Given the description of an element on the screen output the (x, y) to click on. 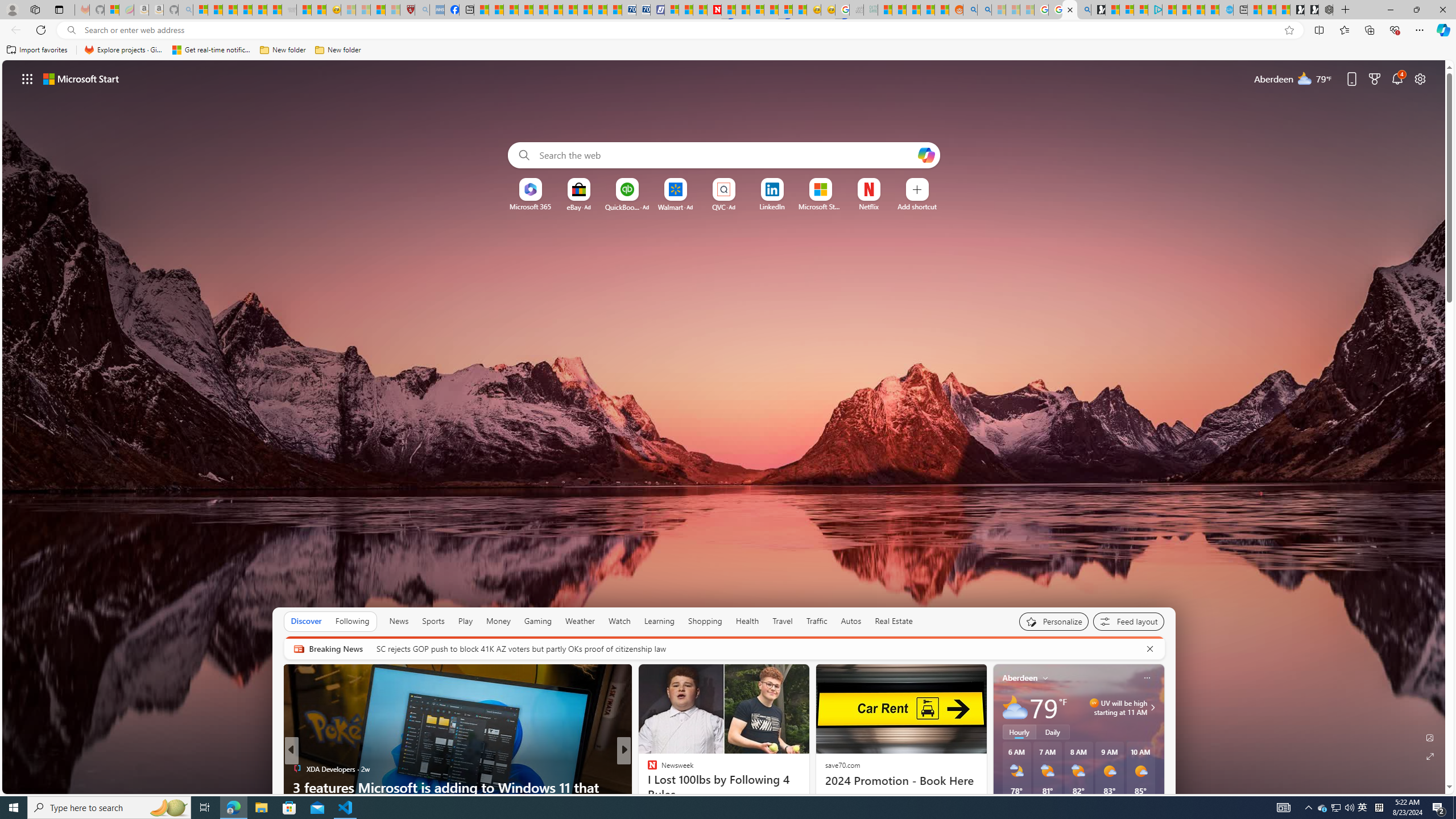
Health (746, 621)
Travel (782, 621)
Search icon (70, 29)
Class: weather-arrow-glyph (1152, 707)
